Given the description of an element on the screen output the (x, y) to click on. 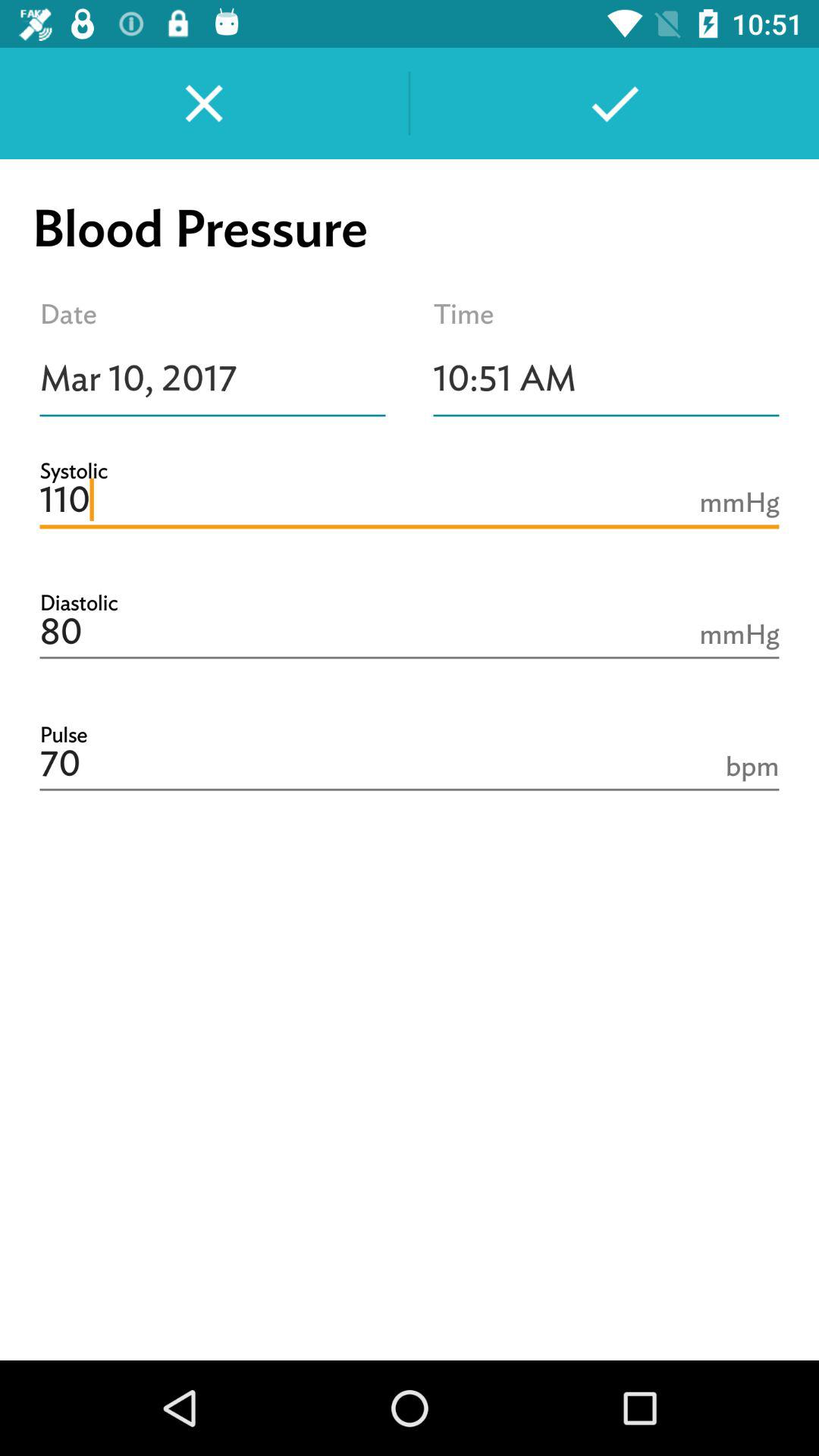
click icon to the left of the 10:51 am icon (212, 378)
